Given the description of an element on the screen output the (x, y) to click on. 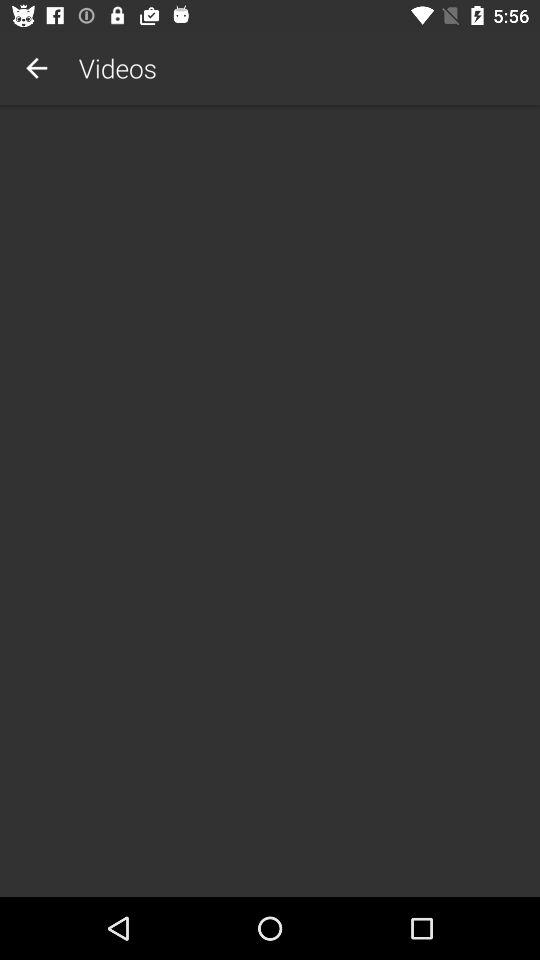
turn off the app to the left of the videos (36, 68)
